Given the description of an element on the screen output the (x, y) to click on. 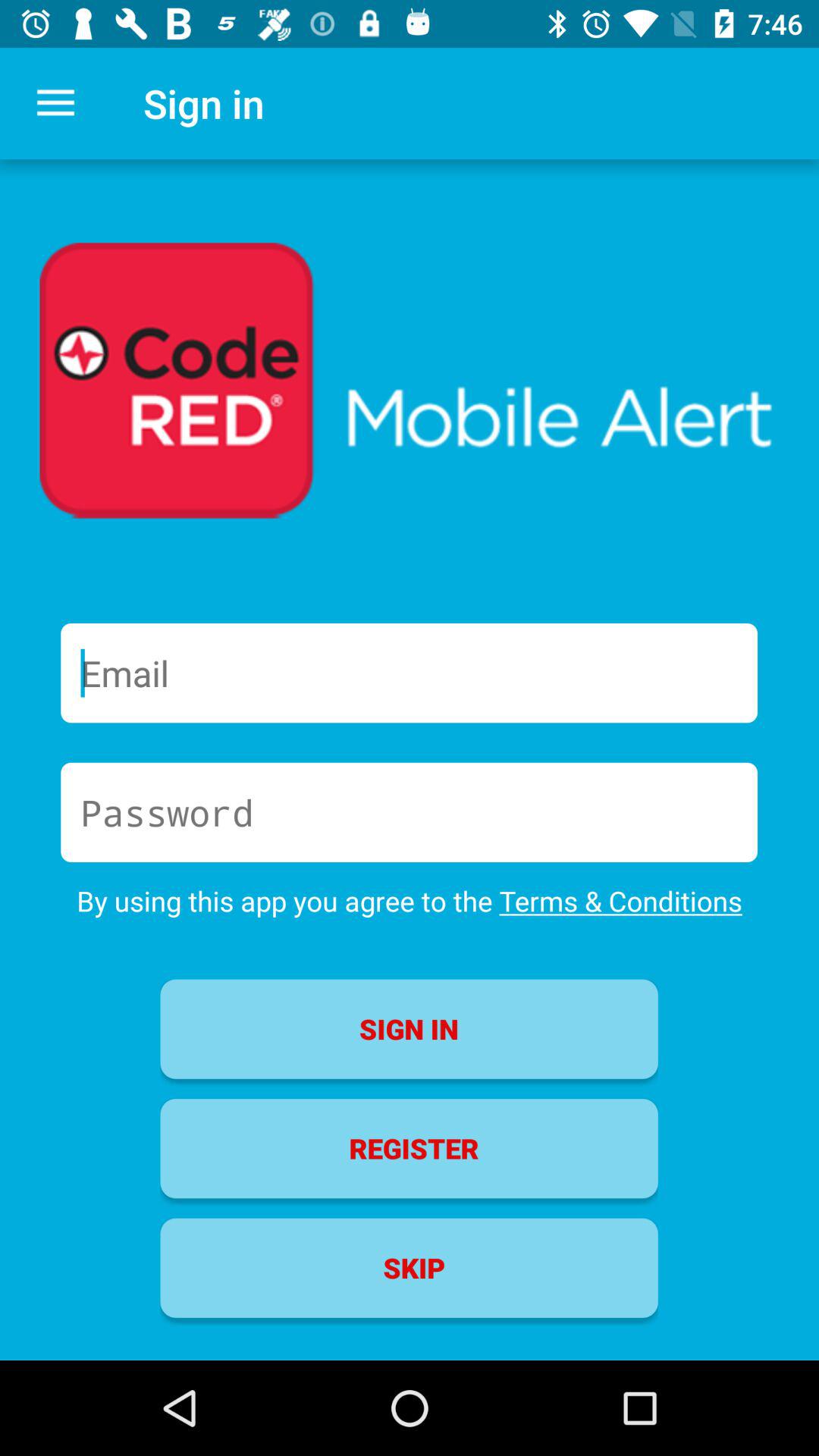
scroll to the skip icon (409, 1267)
